Given the description of an element on the screen output the (x, y) to click on. 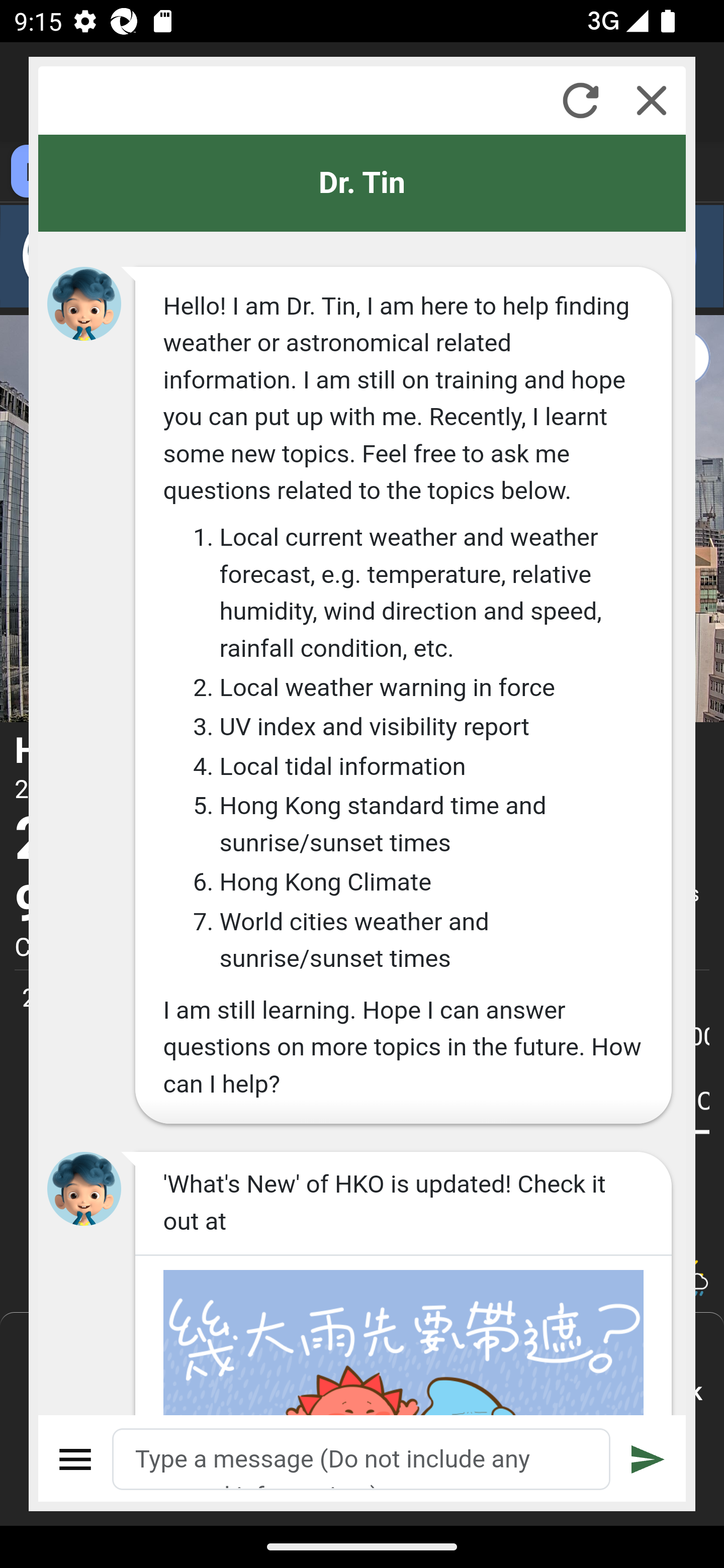
Refresh (580, 100)
Close (651, 100)
Menu (75, 1458)
Submit (648, 1458)
